Given the description of an element on the screen output the (x, y) to click on. 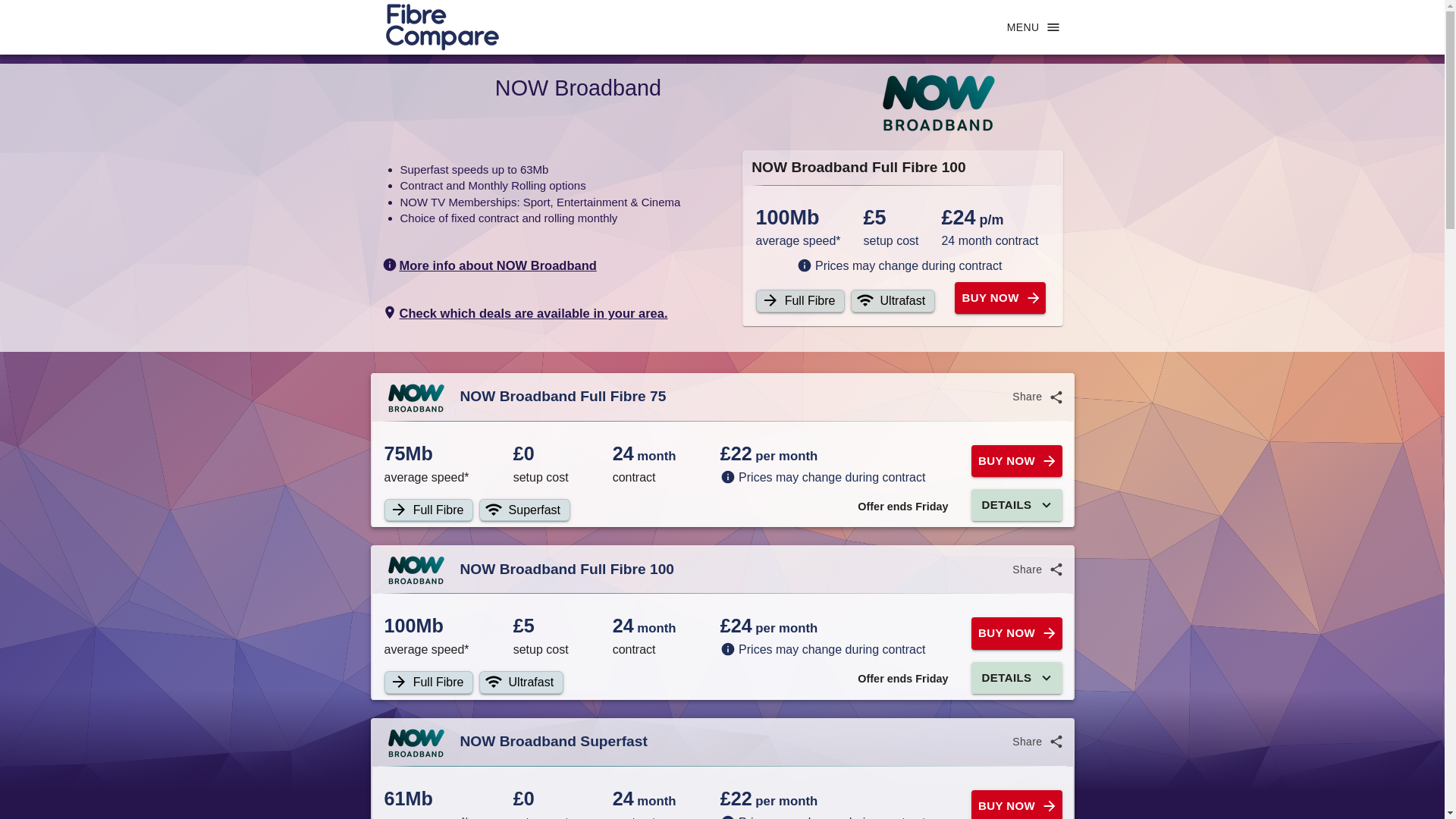
Share (1035, 569)
Share (1035, 741)
BUY NOW (1016, 633)
More info about NOW Broadband (488, 264)
MENU (1032, 27)
DETAILS (1016, 677)
BUY NOW (1016, 804)
BUY NOW (1016, 460)
Check which deals are available in your area. (524, 313)
BUY NOW (1000, 297)
Share (1035, 397)
DETAILS (1016, 504)
